Given the description of an element on the screen output the (x, y) to click on. 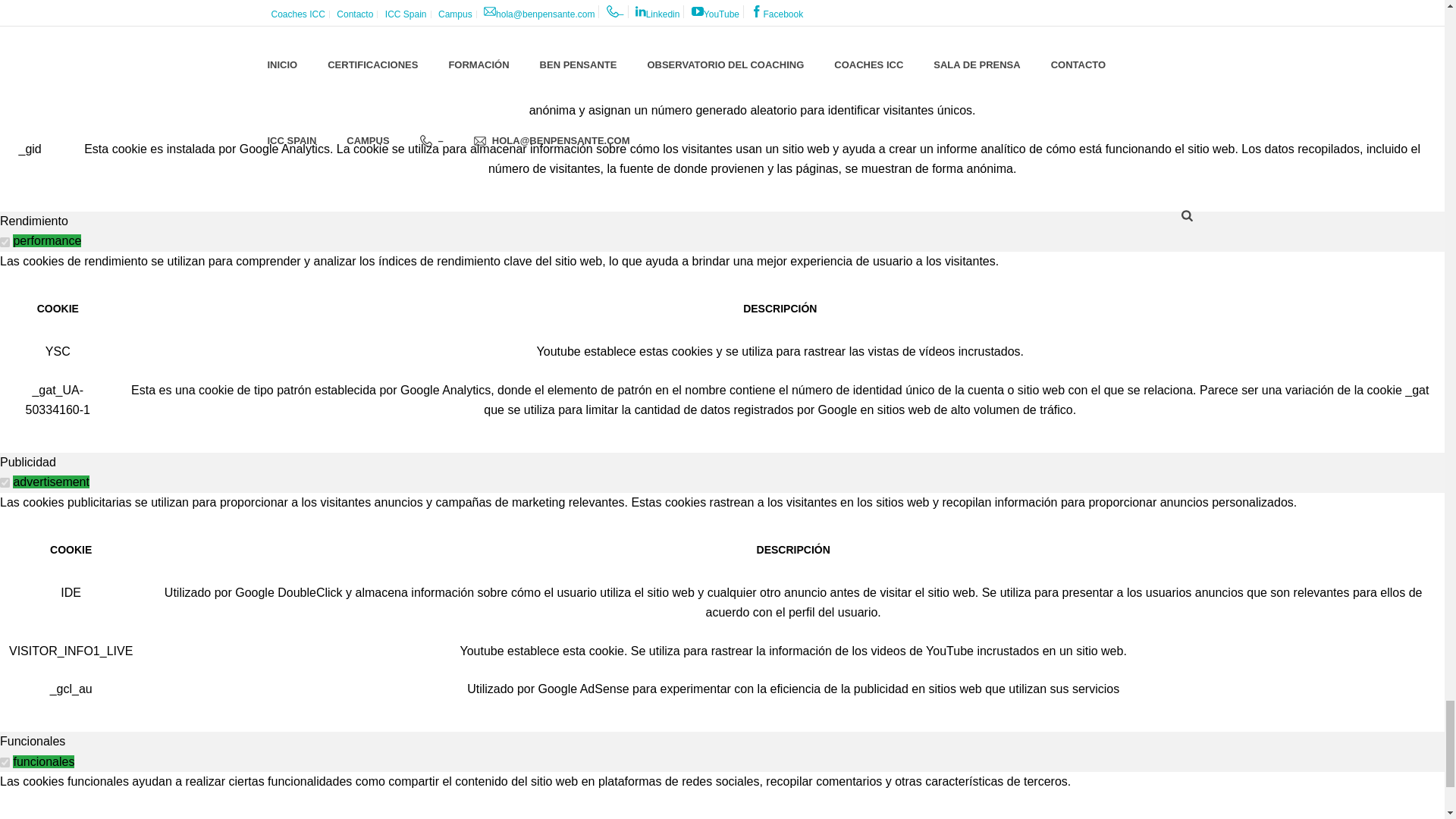
on (5, 762)
on (5, 482)
on (5, 242)
